Given the description of an element on the screen output the (x, y) to click on. 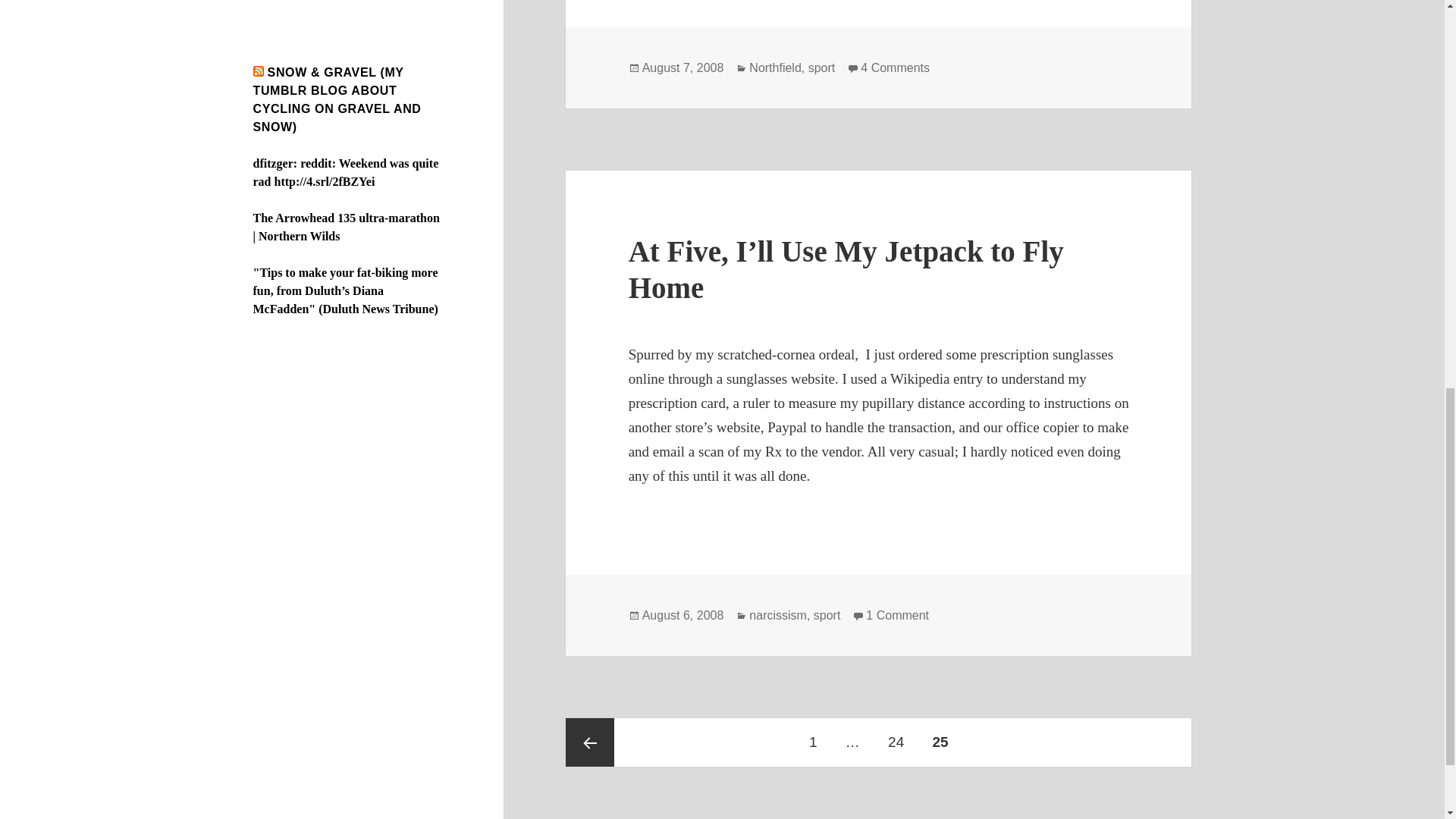
sport (821, 68)
Previous page (590, 742)
narcissism (777, 615)
sport (827, 615)
Northfield (774, 68)
August 7, 2008 (682, 68)
August 6, 2008 (682, 615)
